Given the description of an element on the screen output the (x, y) to click on. 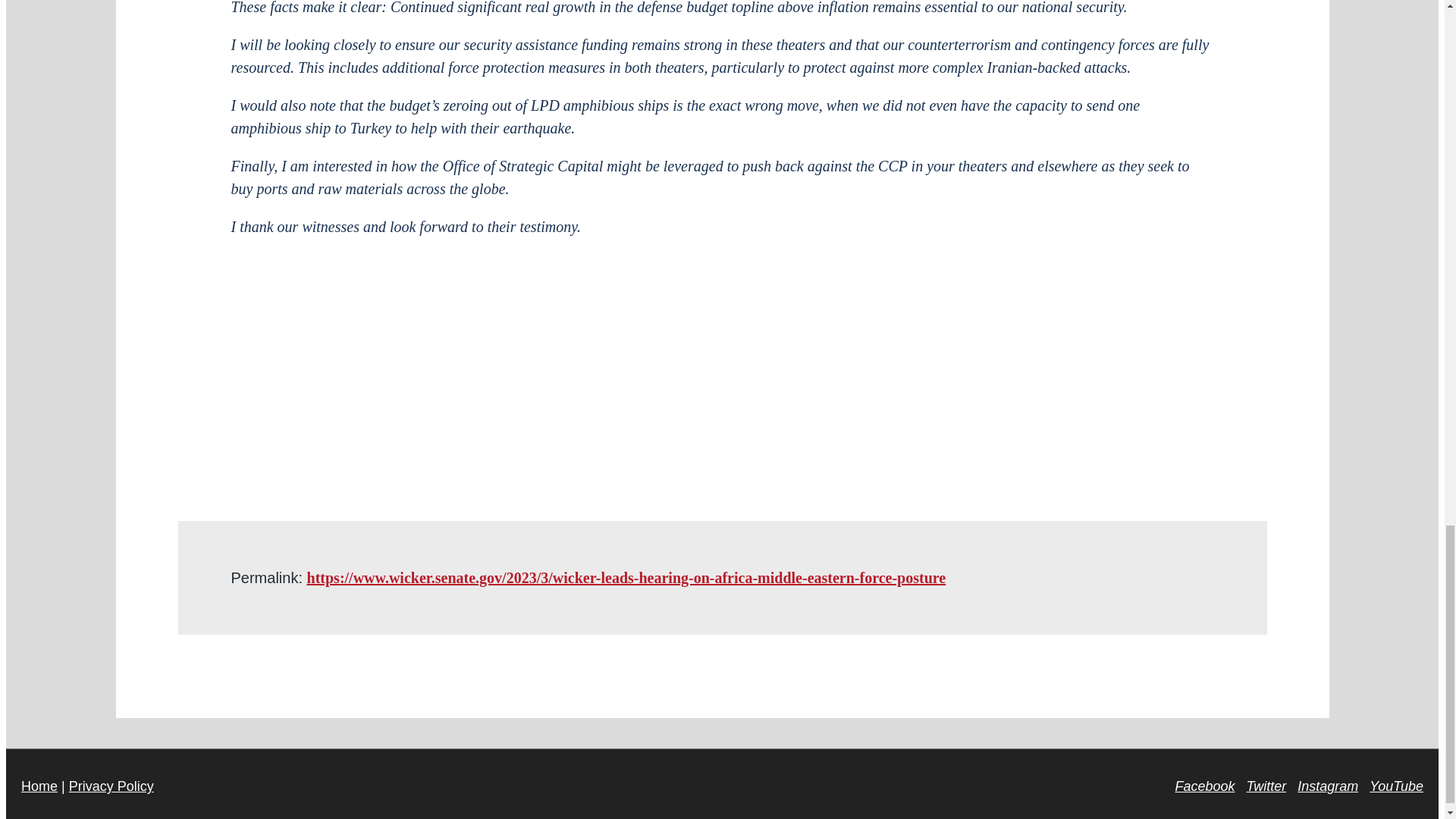
Instagram (1327, 785)
Facebook (1204, 785)
Twitter (1266, 785)
YouTube (1396, 785)
